Given the description of an element on the screen output the (x, y) to click on. 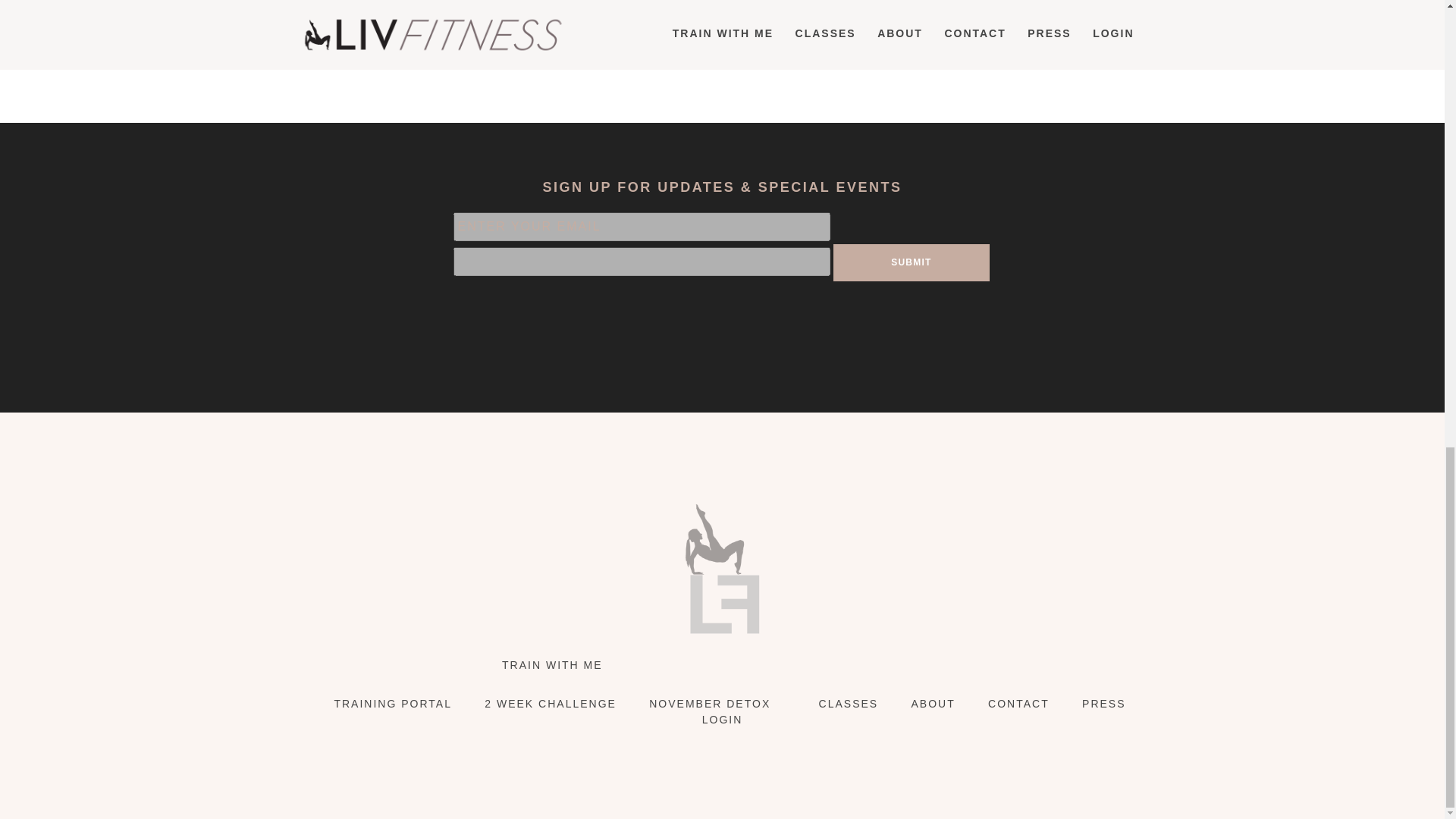
Submit (911, 262)
CLASSES (848, 703)
CONTACT (1018, 703)
TRAINING PORTAL (392, 703)
TRAIN WITH ME (552, 664)
NOVEMBER DETOX (709, 703)
Submit (911, 262)
PRESS (1103, 703)
LOGIN (721, 719)
2 WEEK CHALLENGE (549, 703)
